Given the description of an element on the screen output the (x, y) to click on. 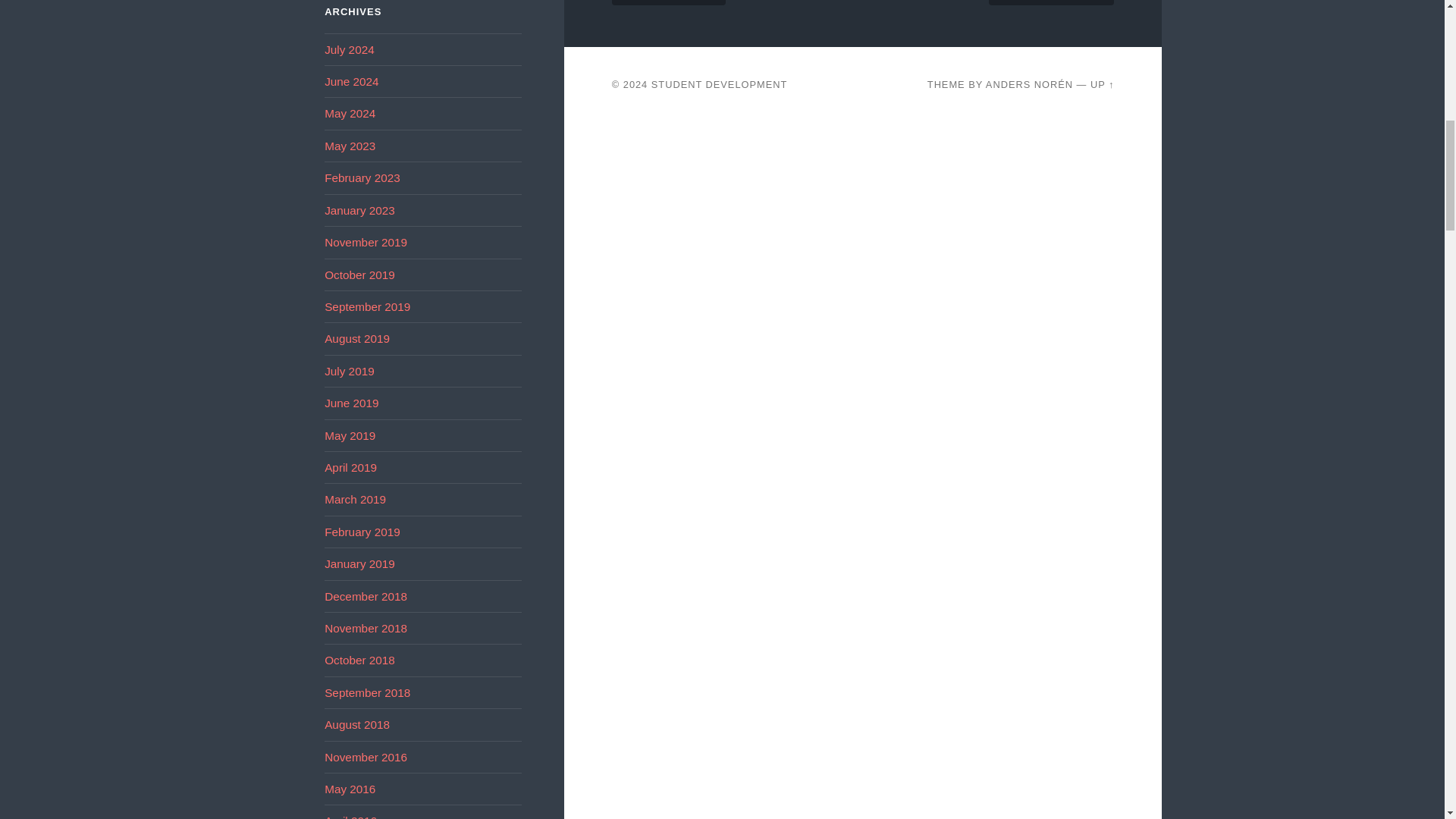
June 2024 (351, 81)
August 2019 (357, 338)
November 2016 (365, 757)
February 2023 (362, 177)
September 2018 (367, 692)
August 2018 (357, 724)
October 2018 (359, 659)
November 2018 (365, 627)
October 2019 (359, 274)
May 2019 (349, 435)
September 2019 (367, 306)
December 2018 (365, 595)
February 2019 (362, 531)
April 2016 (350, 816)
July 2019 (349, 370)
